Given the description of an element on the screen output the (x, y) to click on. 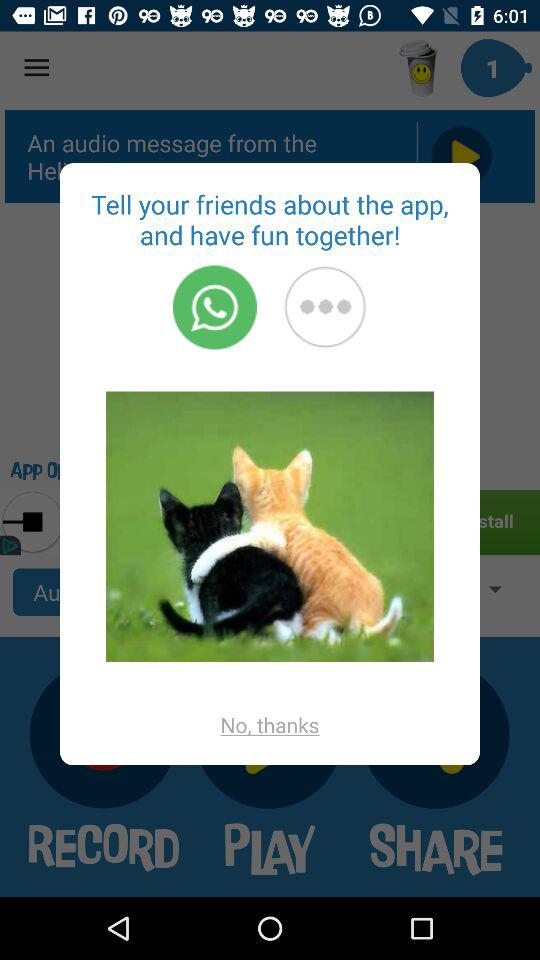
start a call (214, 307)
